Given the description of an element on the screen output the (x, y) to click on. 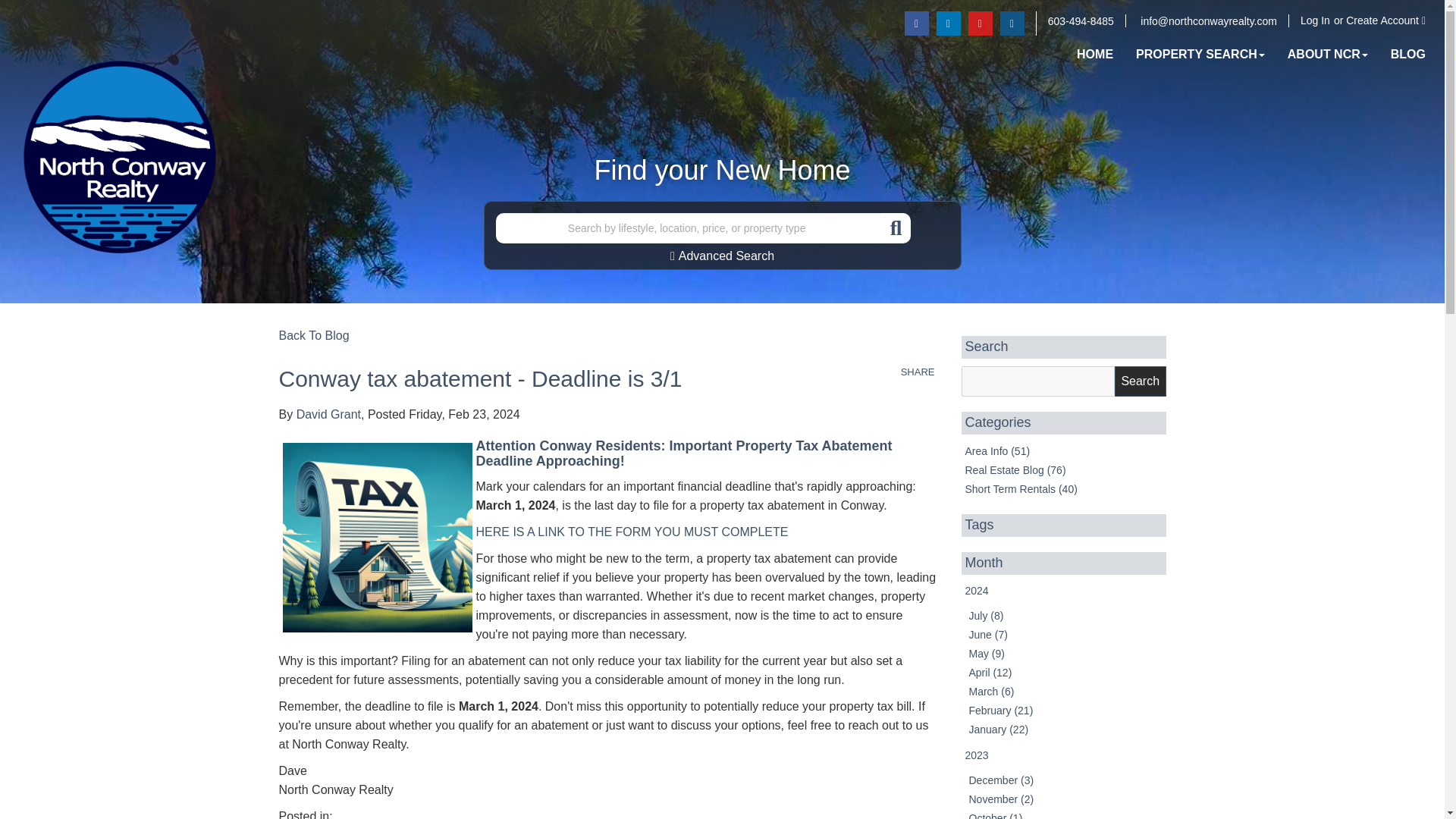
Youtube (980, 23)
Facebook (916, 23)
603-494-8485 (1080, 21)
Linkedin (948, 23)
Instagram (1012, 23)
BLOG (1407, 54)
Log In (1239, 163)
ABOUT NCR (1327, 54)
HOME (1094, 54)
Create Account (1385, 20)
Search (1140, 381)
Linkedin (948, 23)
Facebook (916, 23)
Youtube (980, 23)
Instagram (1012, 23)
